Given the description of an element on the screen output the (x, y) to click on. 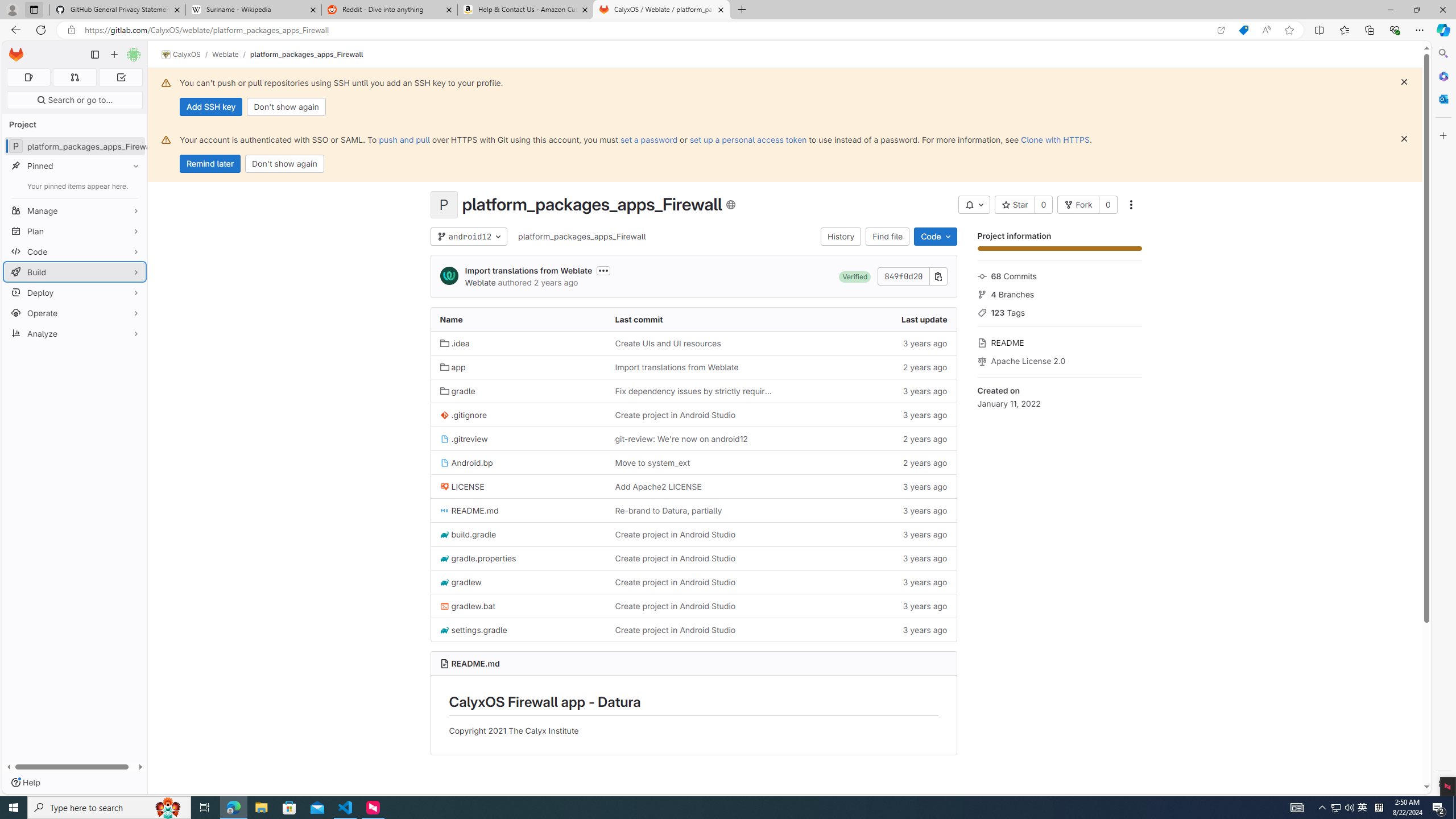
0 (1107, 204)
build.gradle (467, 534)
Build (74, 271)
P platform_packages_apps_Firewall (74, 145)
Class: s16 position-relative file-icon (444, 629)
README.md (517, 509)
Add Apache2 LICENSE (693, 486)
Apache License 2.0 (1058, 359)
gradle.properties (517, 558)
Toggle commit description (603, 270)
gradlew (517, 582)
Verified (854, 276)
Clone with HTTPS (1054, 139)
Deploy (74, 292)
